Given the description of an element on the screen output the (x, y) to click on. 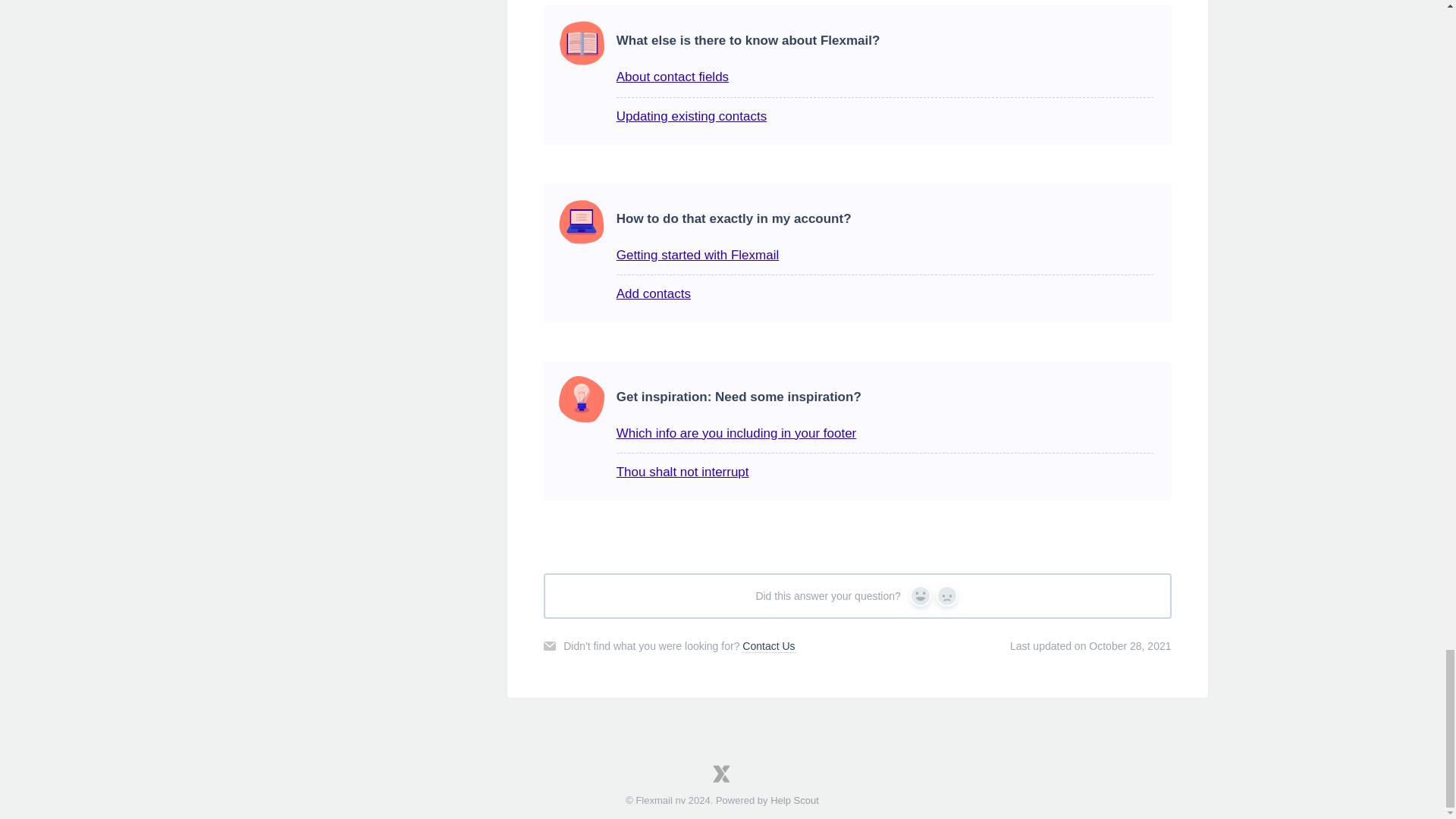
Thou shalt not interrupt (682, 472)
Add contacts (652, 293)
Yes (920, 595)
Contact Us (768, 645)
Help Scout (794, 799)
Updating existing contacts (691, 115)
Getting started with Flexmail (696, 255)
No (947, 595)
About contact fields (672, 76)
Which info are you including in your footer (736, 432)
